Given the description of an element on the screen output the (x, y) to click on. 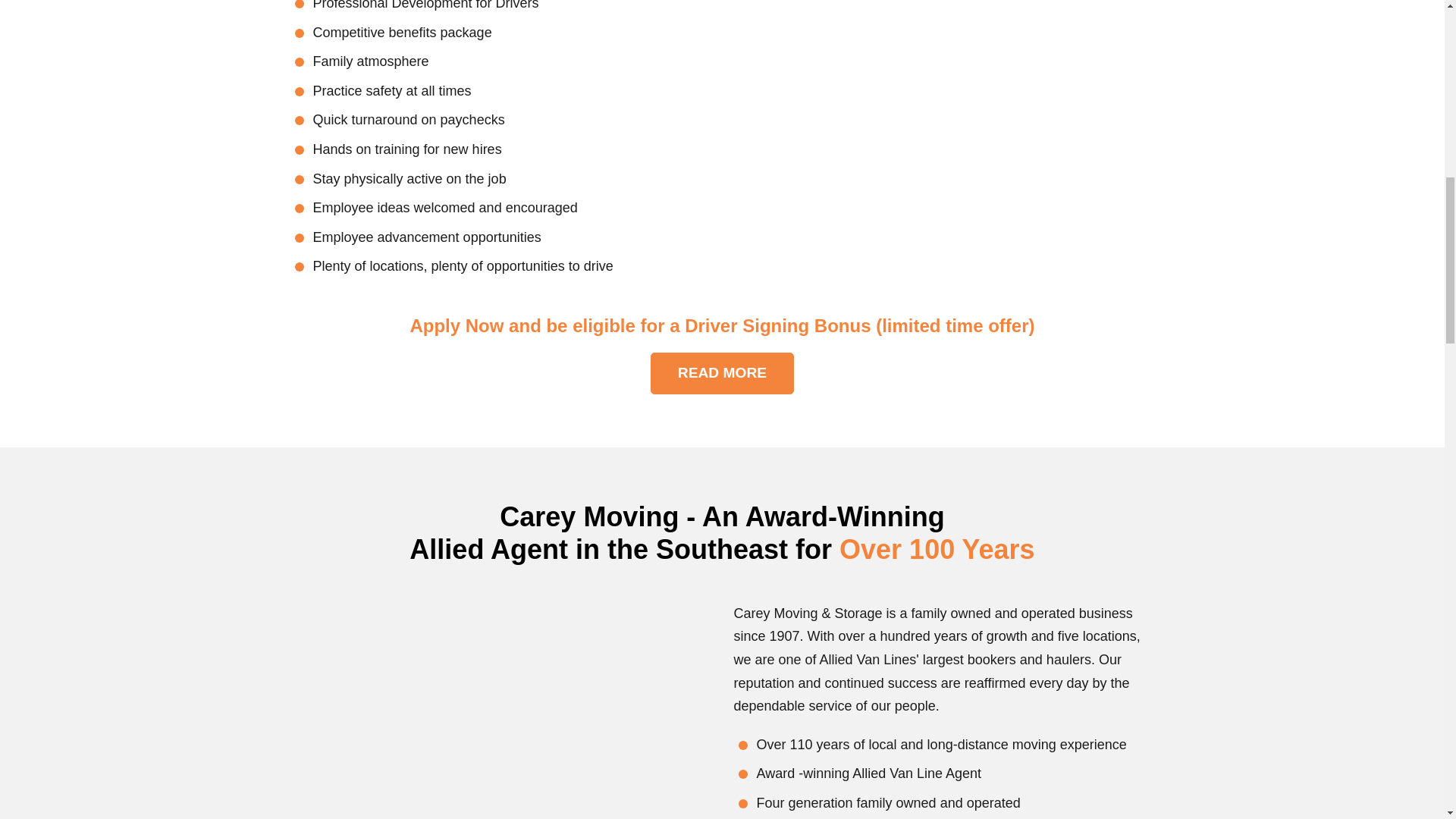
READ MORE (721, 372)
